Given the description of an element on the screen output the (x, y) to click on. 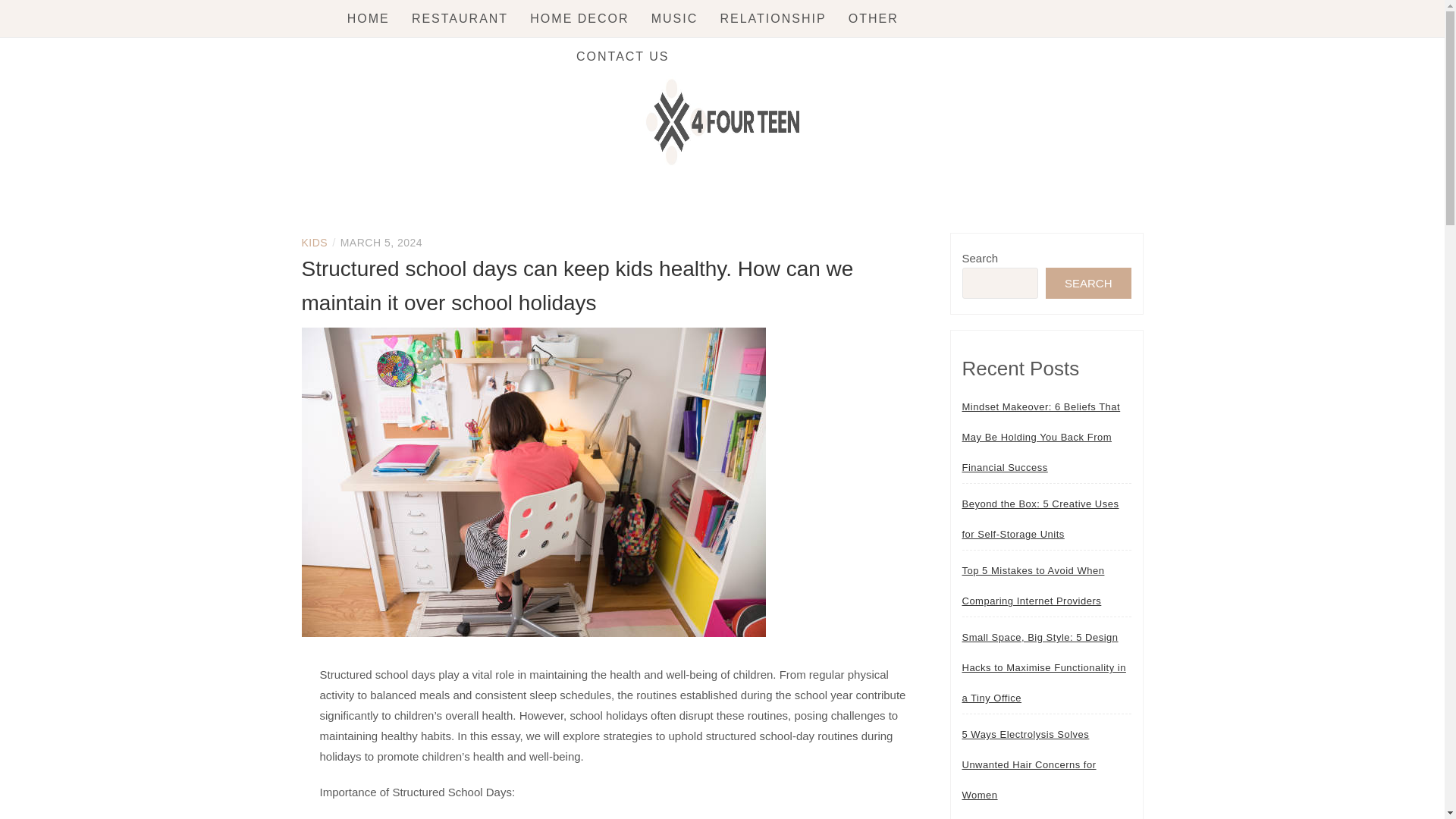
OTHER (873, 18)
HOME (368, 18)
Top 5 Mistakes to Avoid When Comparing Internet Providers (1045, 586)
MUSIC (674, 18)
Beyond the Box: 5 Creative Uses for Self-Storage Units (1045, 518)
SEARCH (1088, 282)
5 Ways Electrolysis Solves Unwanted Hair Concerns for Women (1045, 764)
HOME DECOR (578, 18)
